Given the description of an element on the screen output the (x, y) to click on. 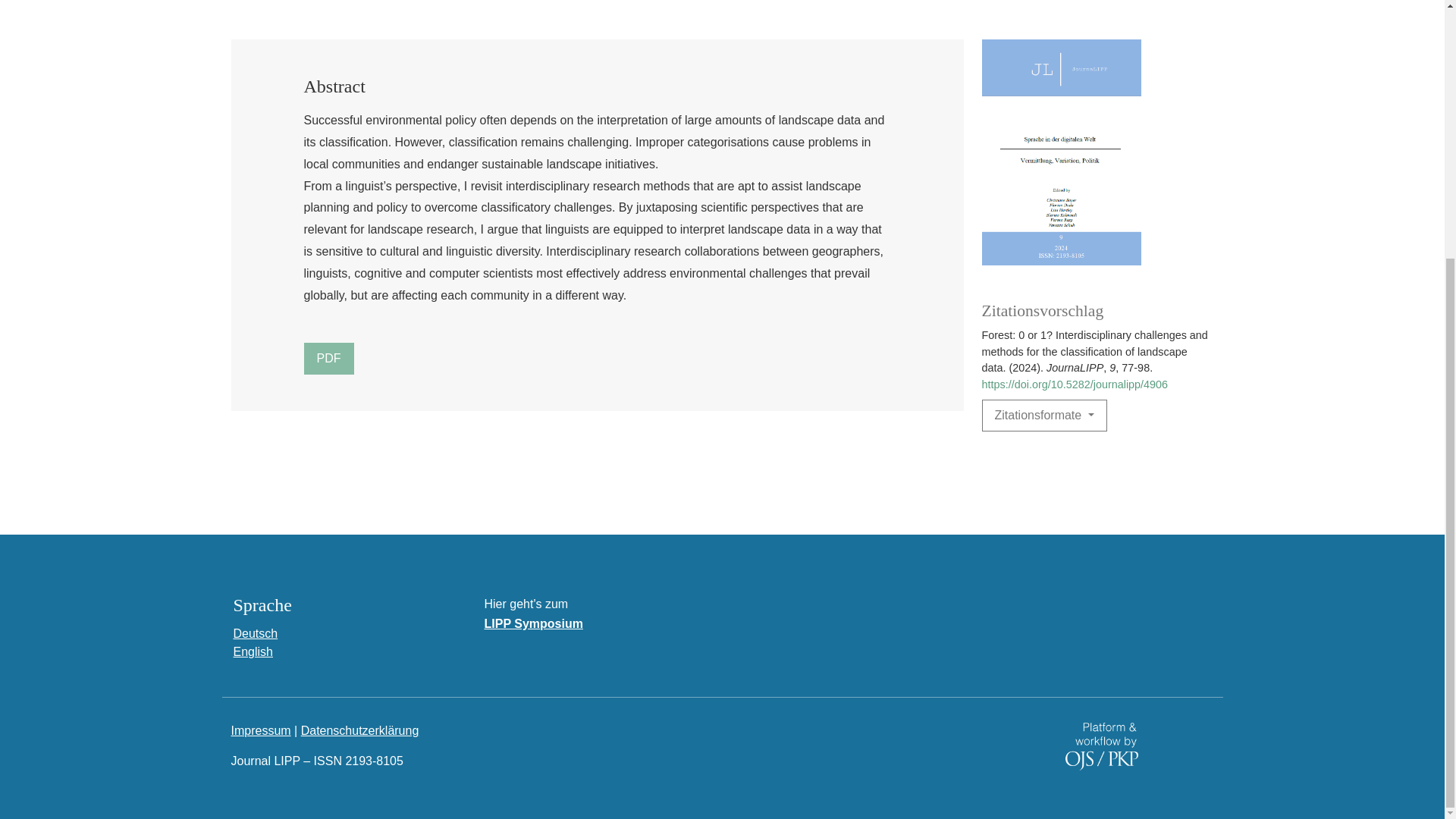
Zitationsformate (1043, 415)
